Given the description of an element on the screen output the (x, y) to click on. 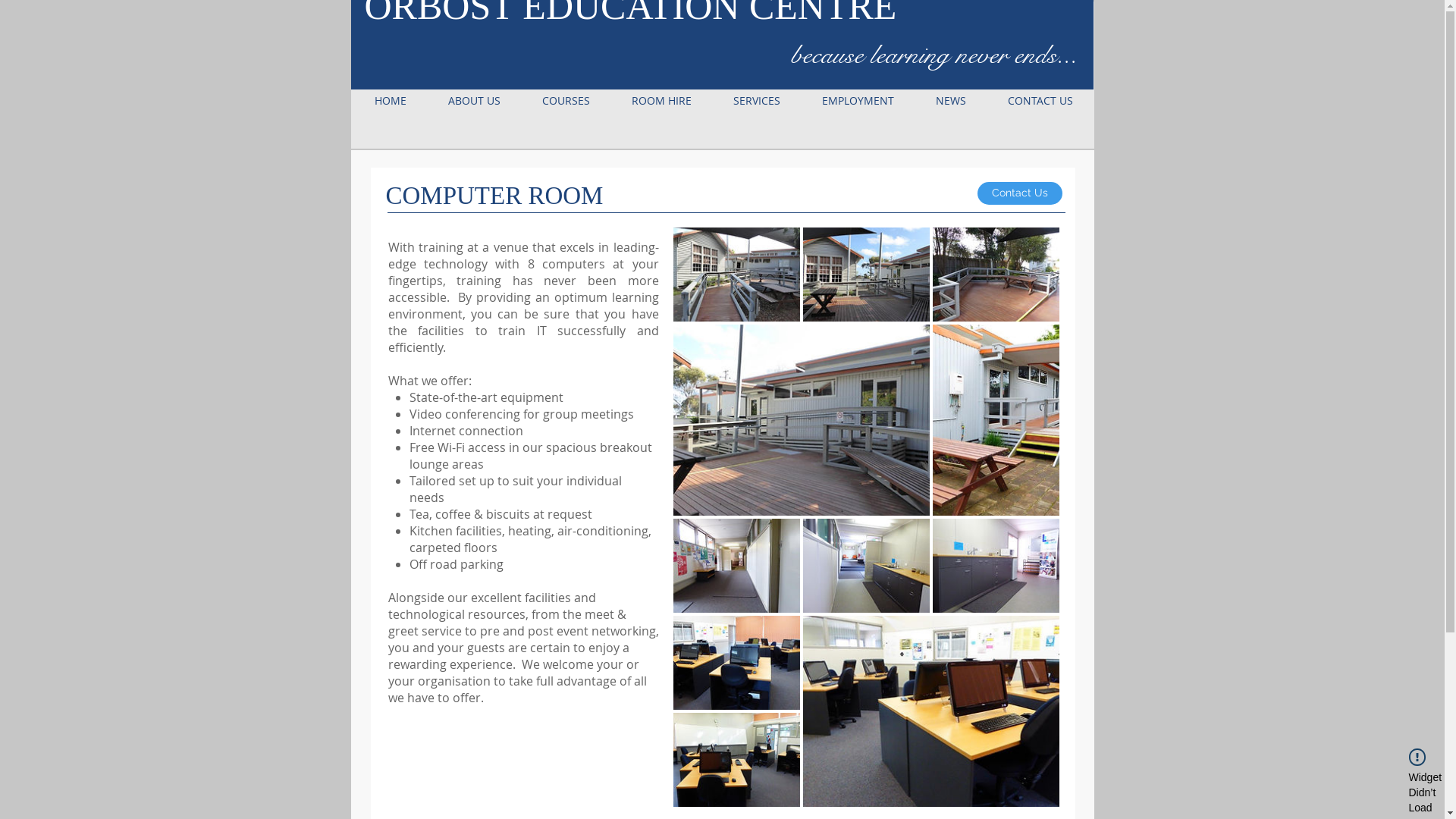
NEWS Element type: text (950, 100)
ABOUT US Element type: text (474, 100)
EMPLOYMENT Element type: text (857, 100)
HOME Element type: text (390, 100)
Contact Us Element type: text (1018, 193)
CONTACT US Element type: text (1040, 100)
